Given the description of an element on the screen output the (x, y) to click on. 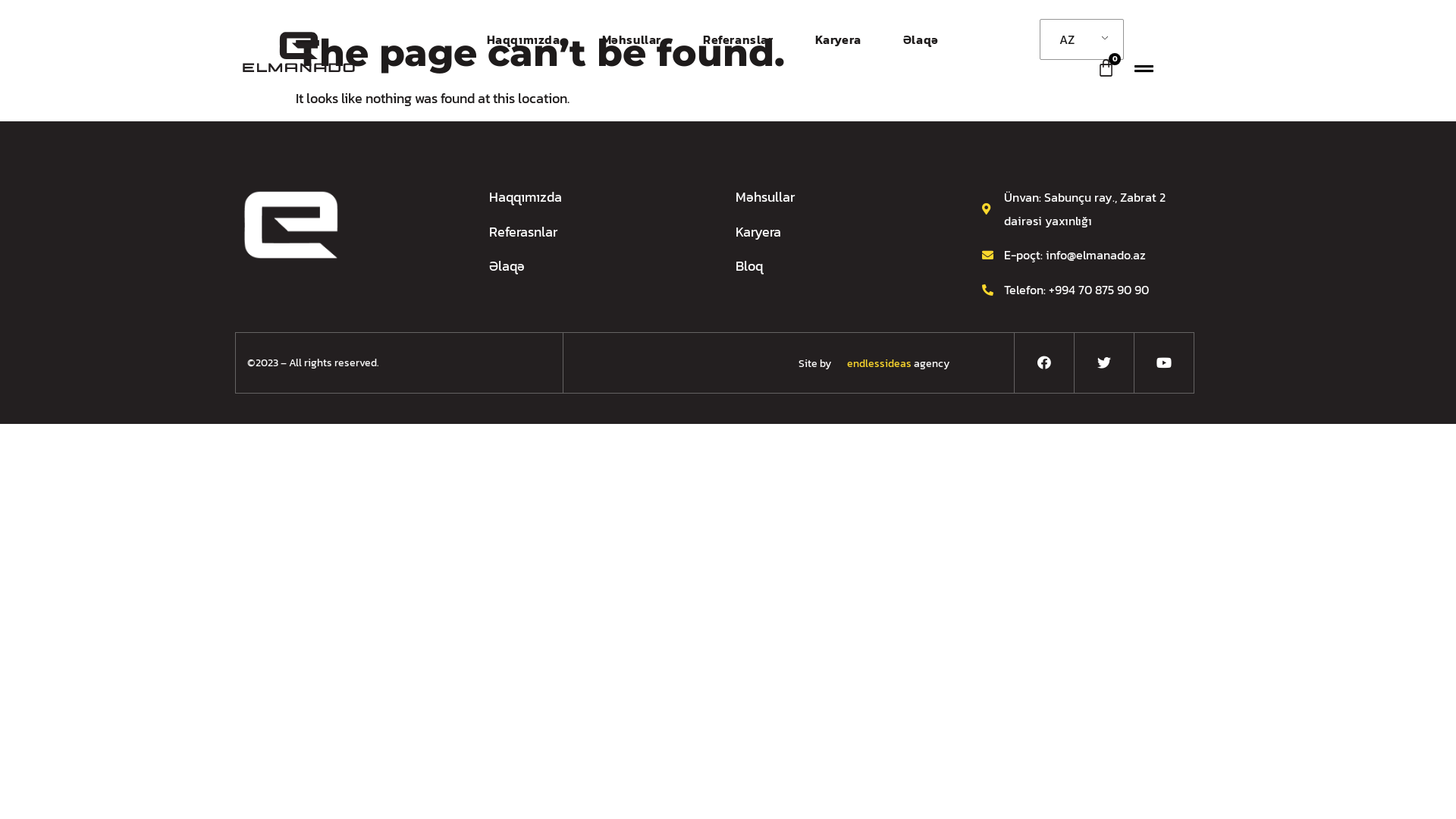
Bloq Element type: text (839, 266)
Karyera Element type: text (838, 38)
Telefon: +994 70 875 90 90 Element type: text (1086, 289)
 endlessideas Element type: text (872, 364)
Karyera Element type: text (839, 232)
AZ Element type: text (1078, 39)
Referanslar Element type: text (737, 38)
Referasnlar Element type: text (593, 232)
